Given the description of an element on the screen output the (x, y) to click on. 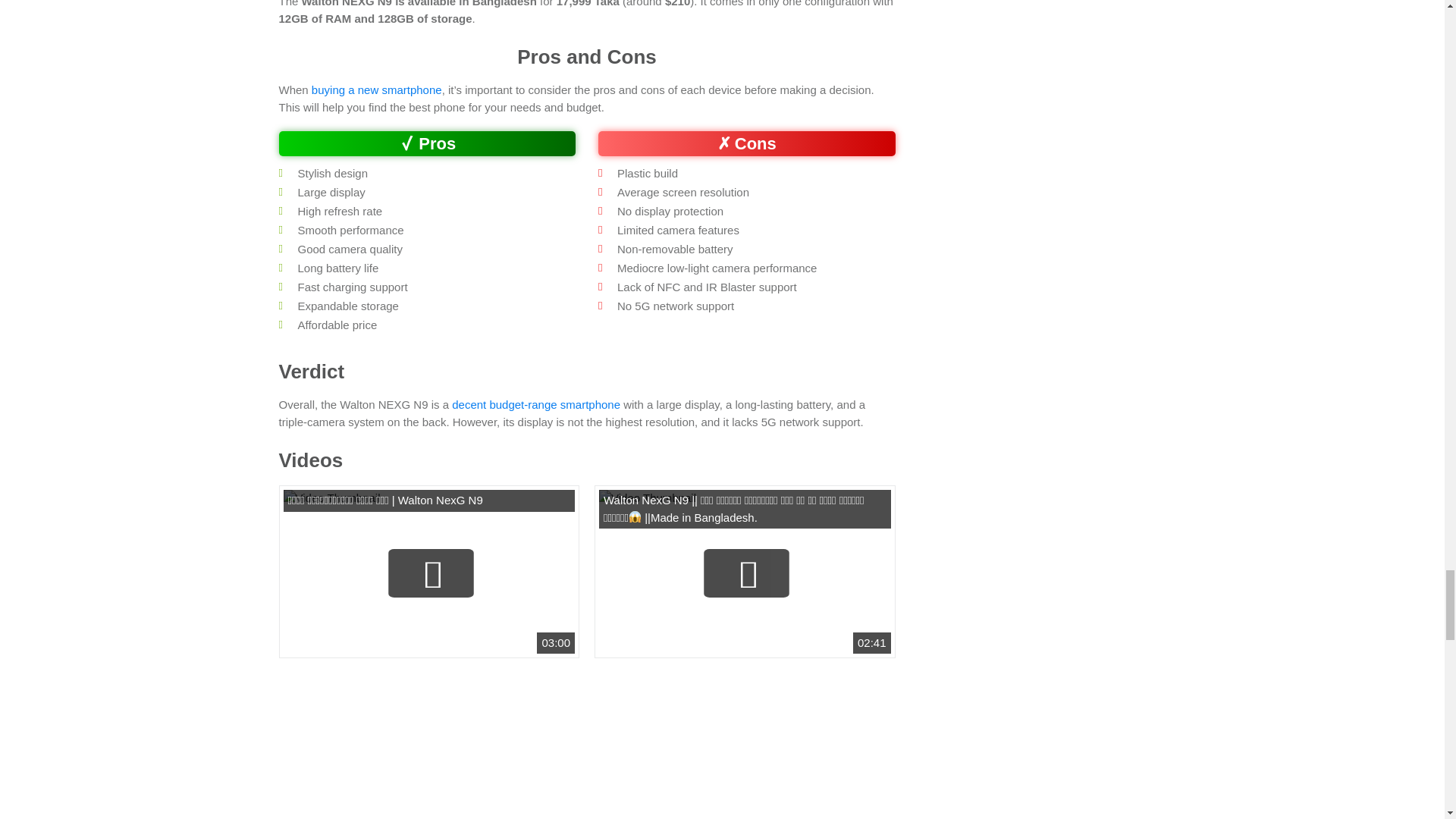
Click to play video (731, 572)
Click to play video (416, 572)
